Given the description of an element on the screen output the (x, y) to click on. 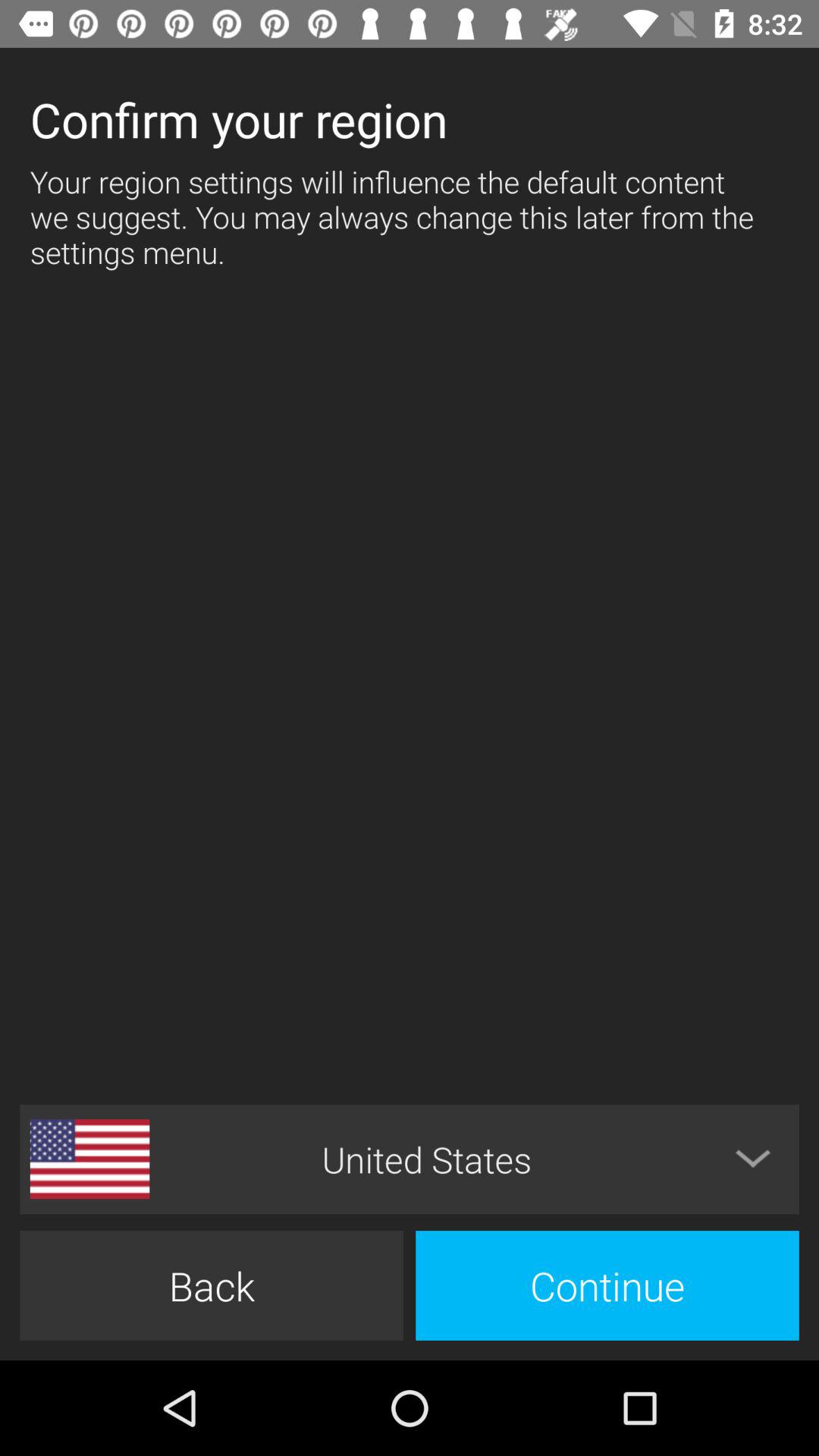
choose icon to the right of back item (607, 1285)
